Given the description of an element on the screen output the (x, y) to click on. 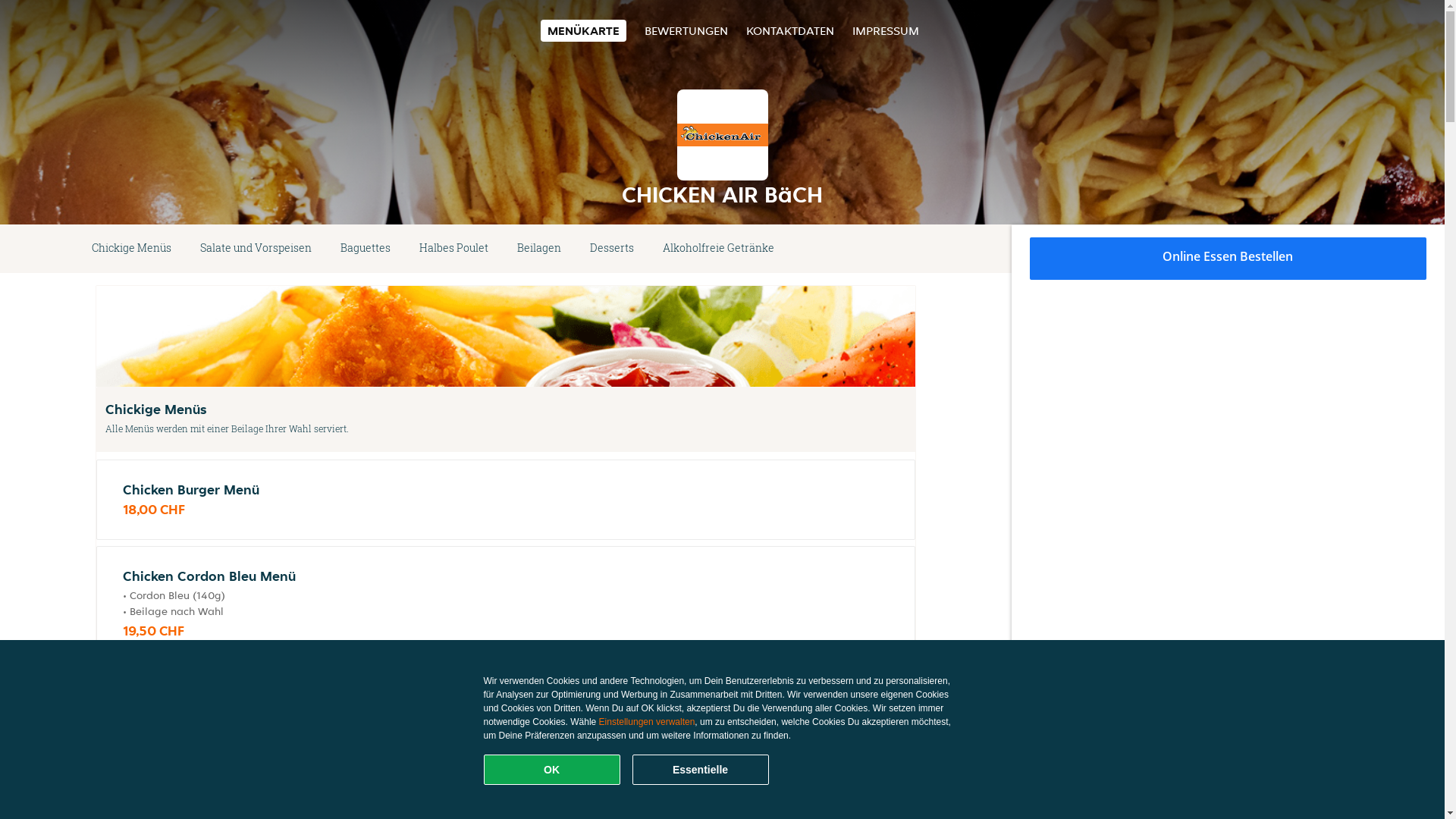
Einstellungen verwalten Element type: text (647, 721)
IMPRESSUM Element type: text (885, 30)
Baguettes Element type: text (365, 248)
Desserts Element type: text (611, 248)
BEWERTUNGEN Element type: text (686, 30)
Beilagen Element type: text (538, 248)
Salate und Vorspeisen Element type: text (255, 248)
Online Essen Bestellen Element type: text (1228, 258)
KONTAKTDATEN Element type: text (790, 30)
Essentielle Element type: text (700, 769)
Halbes Poulet Element type: text (453, 248)
OK Element type: text (551, 769)
